Given the description of an element on the screen output the (x, y) to click on. 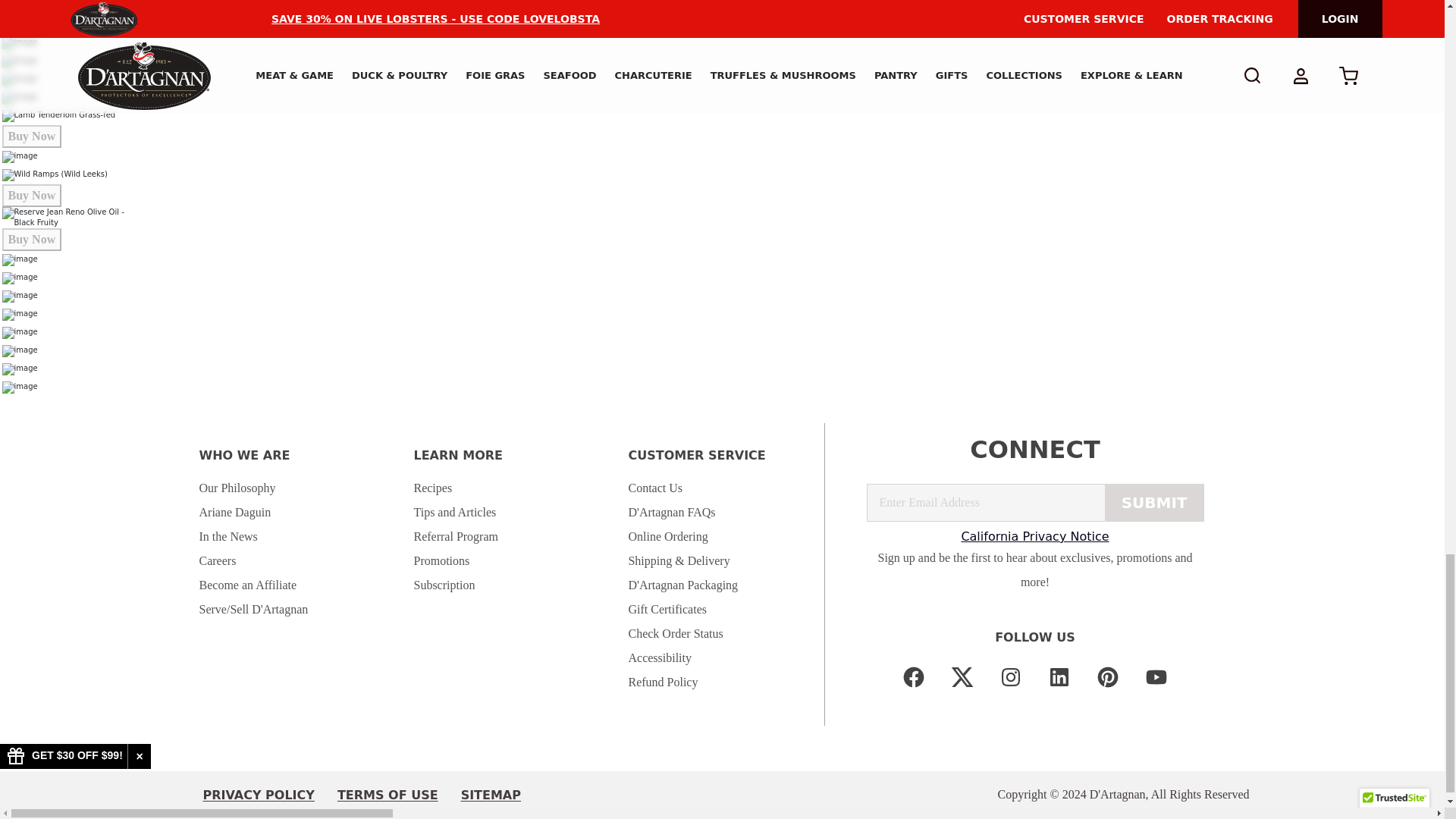
facebook (913, 675)
facebook (913, 677)
